Given the description of an element on the screen output the (x, y) to click on. 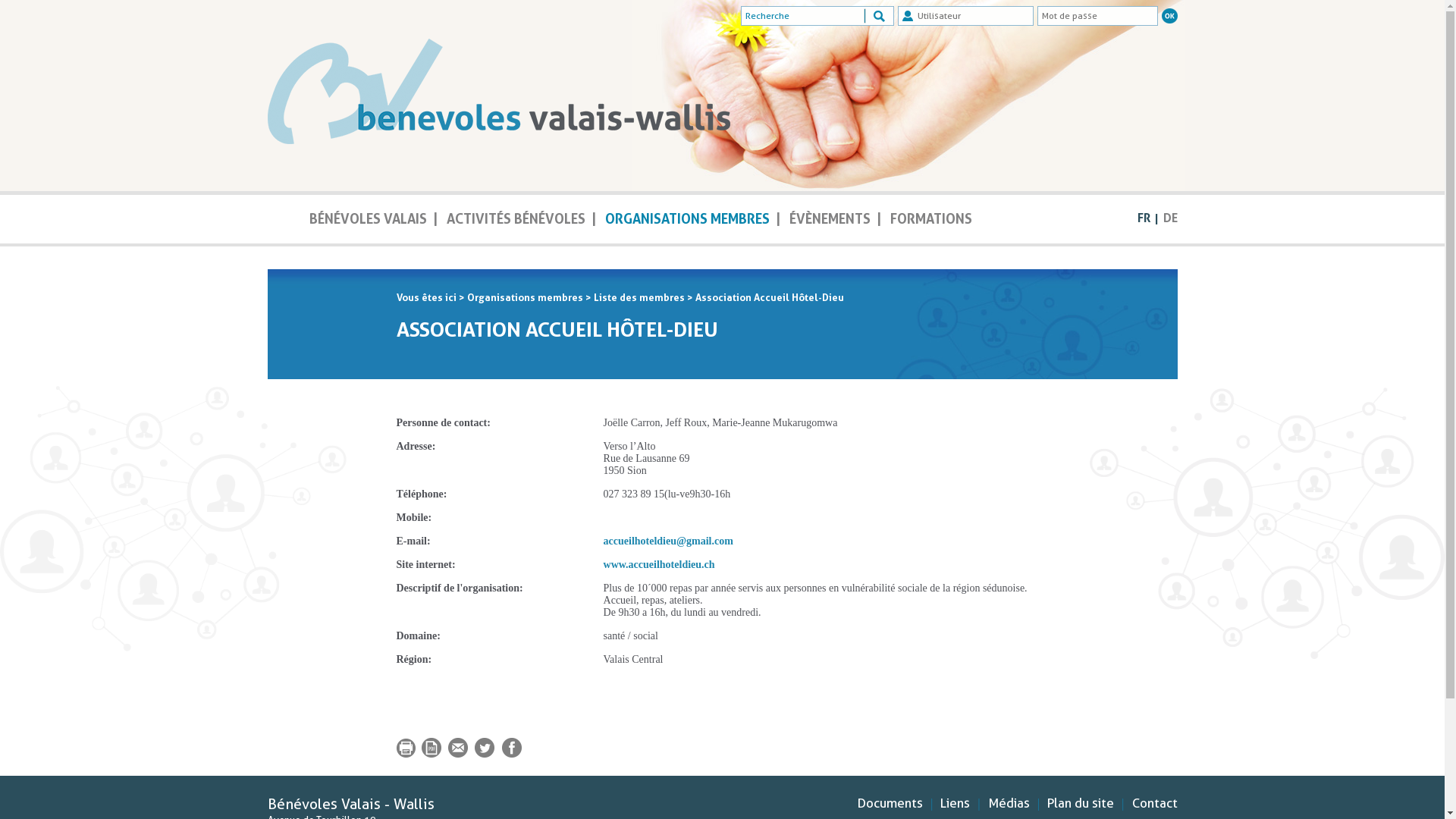
accueilhoteldieu@gmail.com Element type: text (668, 540)
Liste des membres Element type: text (638, 297)
DE Element type: text (1170, 217)
Documents Element type: text (889, 802)
www.accueilhoteldieu.ch Element type: text (659, 564)
FR Element type: text (1143, 217)
FORMATIONS Element type: text (931, 221)
Liens Element type: text (954, 802)
Contact Element type: text (1153, 802)
Imprimer le contenu de cette page Element type: hover (406, 753)
Plan du site Element type: text (1080, 802)
ORGANISATIONS MEMBRES Element type: text (687, 221)
Benevoles Valais Element type: hover (497, 95)
